Given the description of an element on the screen output the (x, y) to click on. 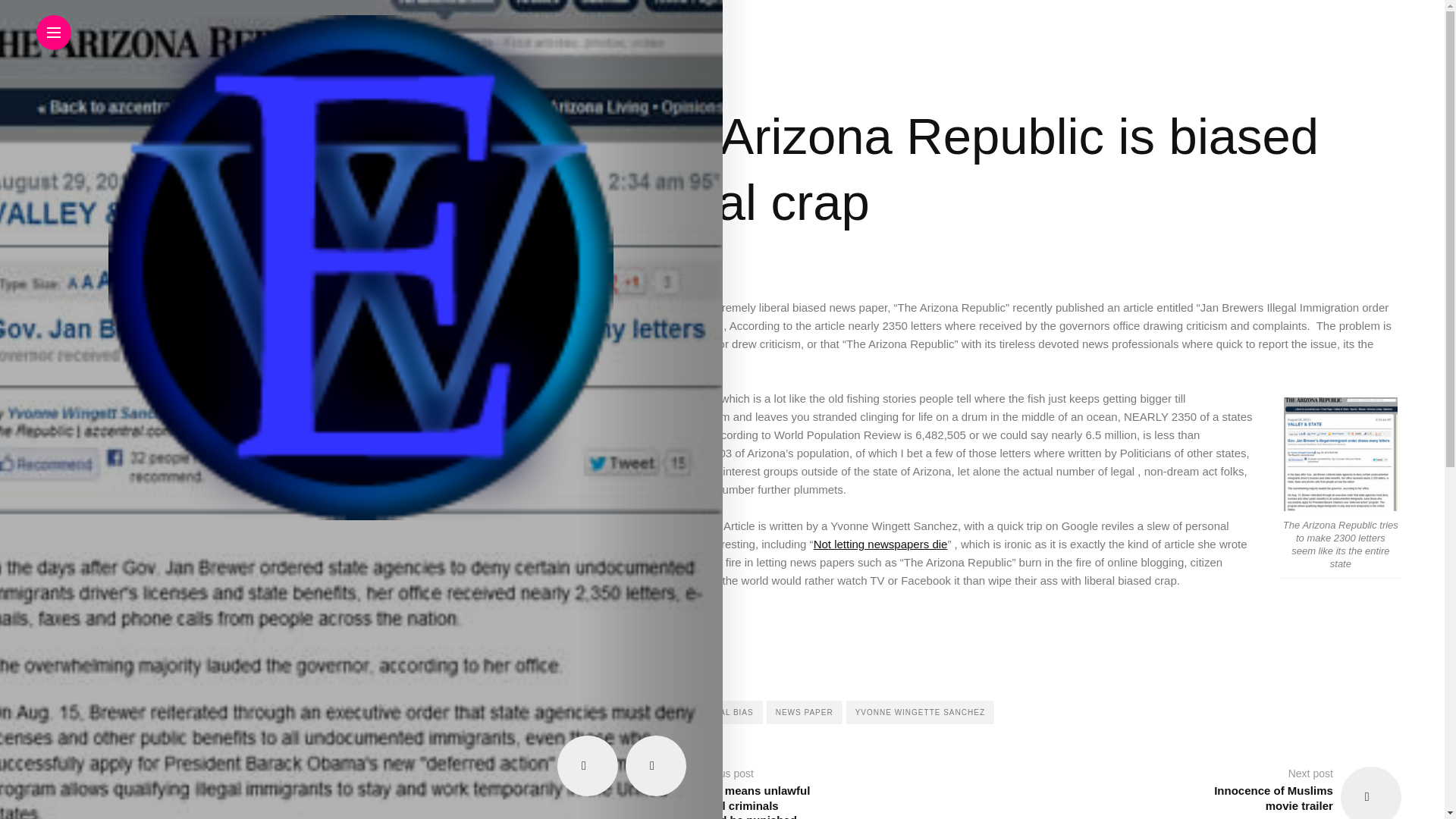
NEWS PAPER (805, 712)
POLITICS (653, 78)
The Arizona Republic is liberal media crap (1340, 454)
YVONNE WINGETTE SANCHEZ (919, 712)
ARIZONIA (651, 712)
Not letting newspapers die (880, 543)
LIBERAL BIAS (722, 712)
